Given the description of an element on the screen output the (x, y) to click on. 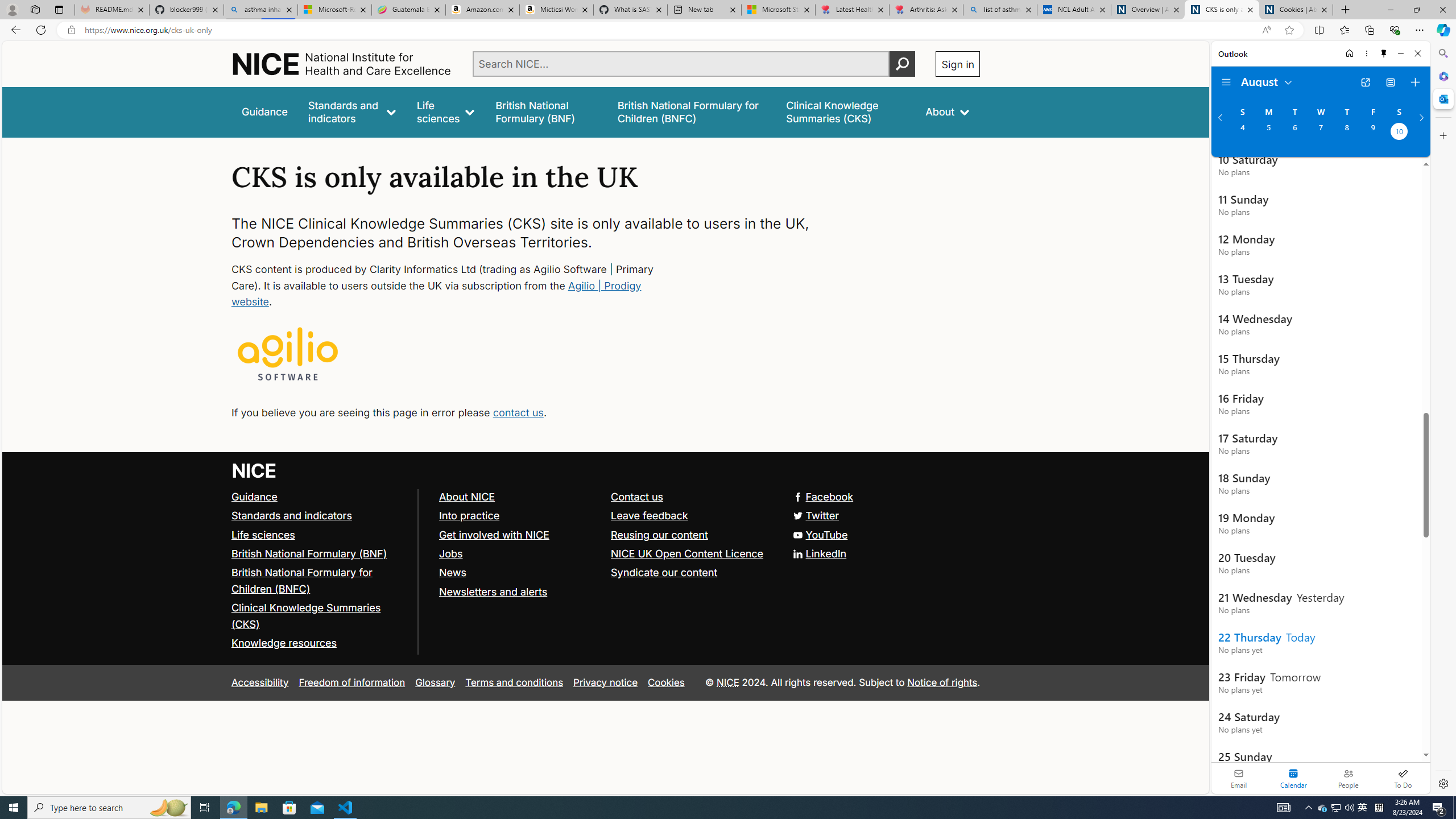
YouTube (605, 534)
Split screen (1318, 29)
Friday, August 9, 2024.  (1372, 132)
Microsoft Start (777, 9)
Terms and conditions (514, 682)
Terms and conditions (514, 682)
Leave feedback (692, 515)
Saturday, August 10, 2024. Date selected.  (1399, 132)
Jobs (450, 553)
Guidance (319, 496)
Read aloud this page (Ctrl+Shift+U) (1266, 29)
Freedom of information (352, 682)
Privacy notice (605, 682)
